Given the description of an element on the screen output the (x, y) to click on. 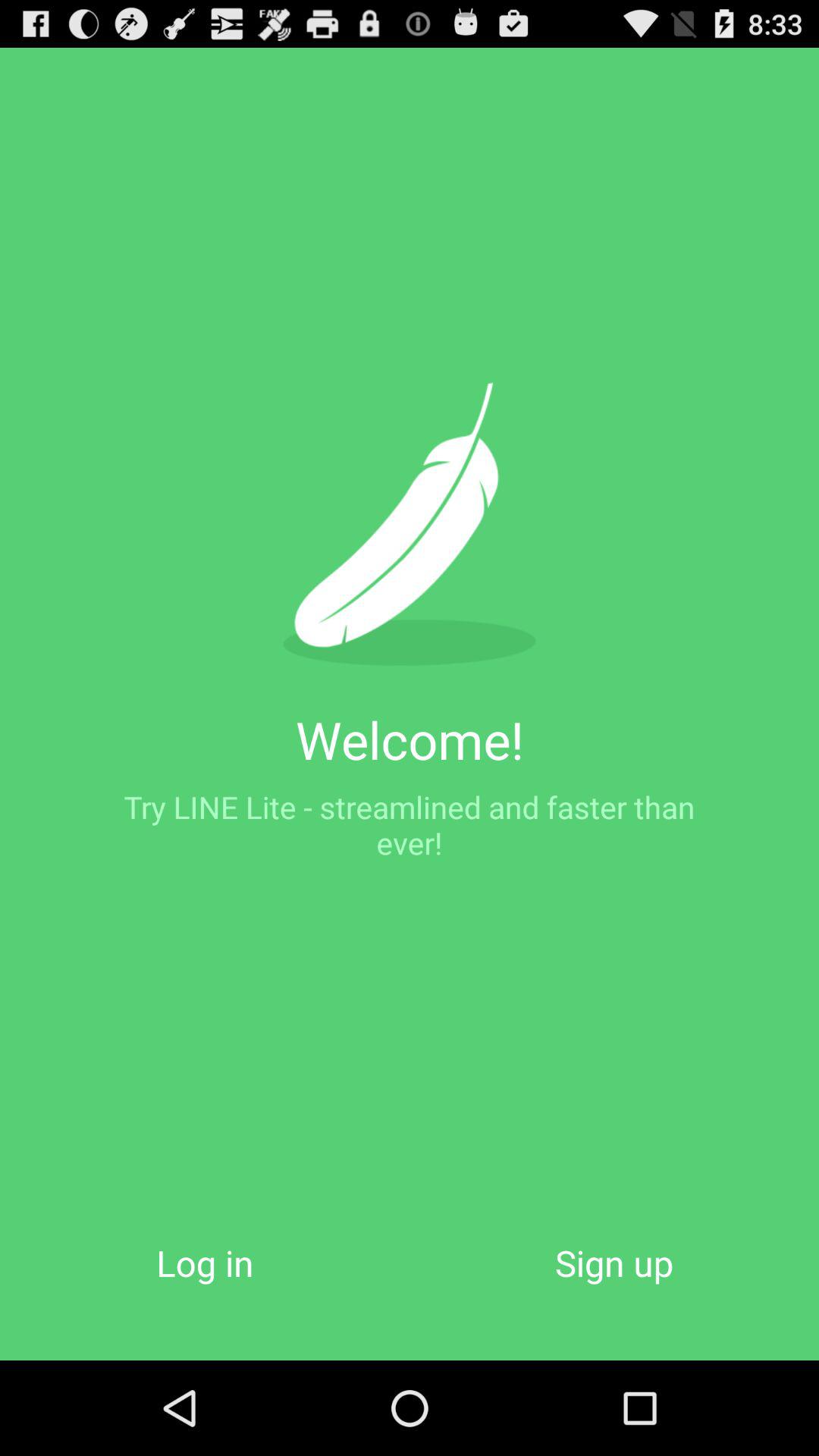
tap icon at the bottom right corner (614, 1262)
